Given the description of an element on the screen output the (x, y) to click on. 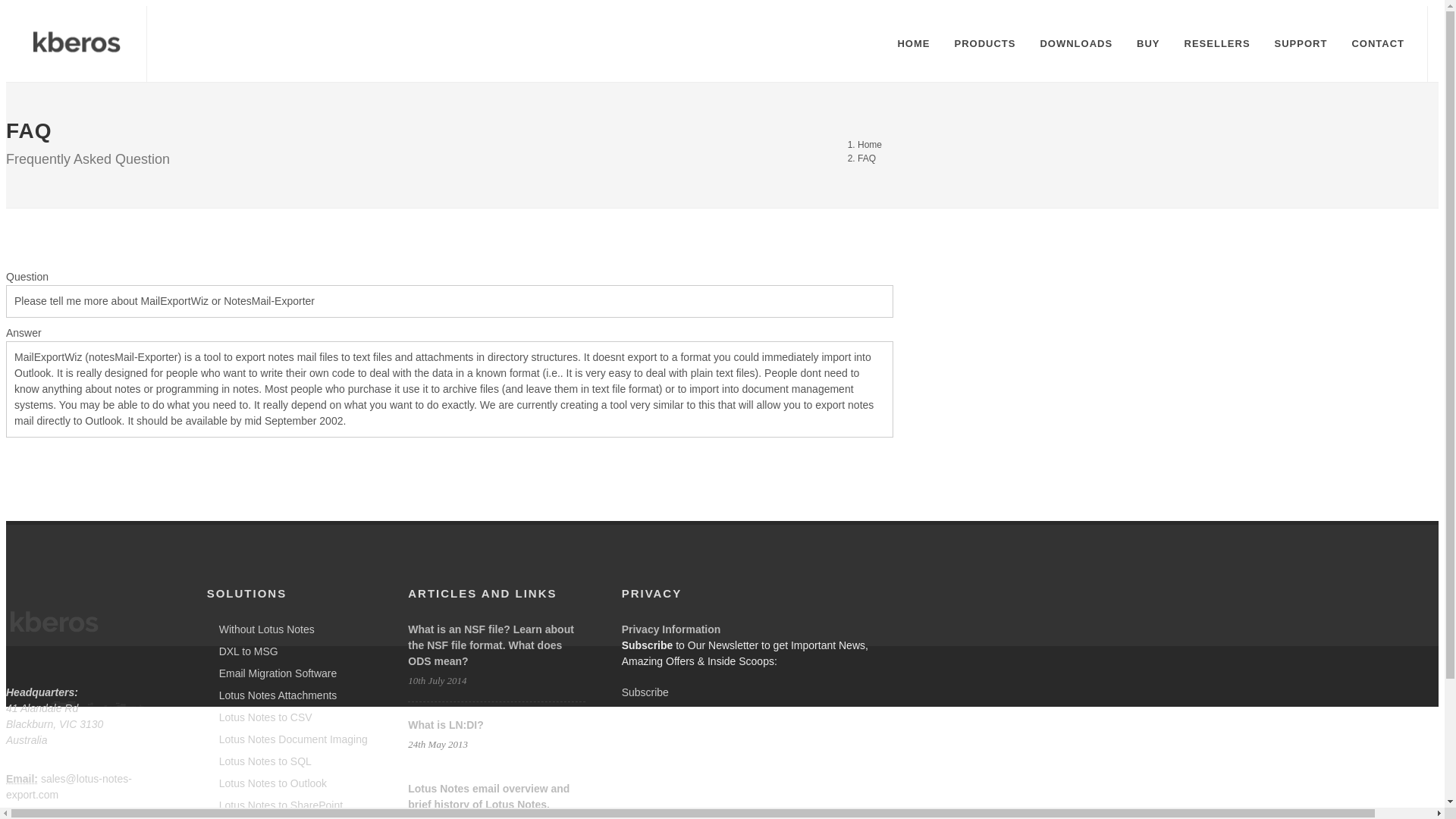
PRODUCTS (984, 43)
DOWNLOADS (1075, 43)
Email Address (21, 778)
